Given the description of an element on the screen output the (x, y) to click on. 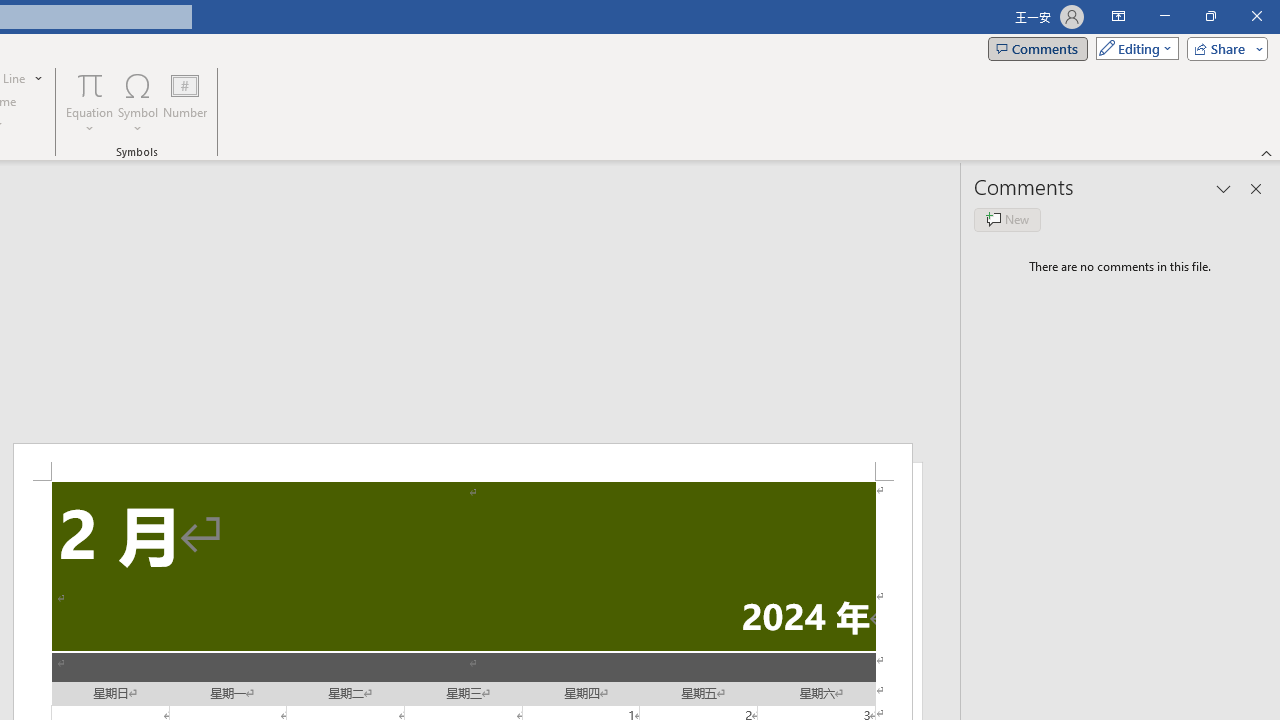
Close pane (1256, 188)
Symbol (138, 102)
New comment (1007, 219)
Equation (90, 102)
Task Pane Options (1224, 188)
Number... (185, 102)
Header -Section 2- (462, 461)
